Given the description of an element on the screen output the (x, y) to click on. 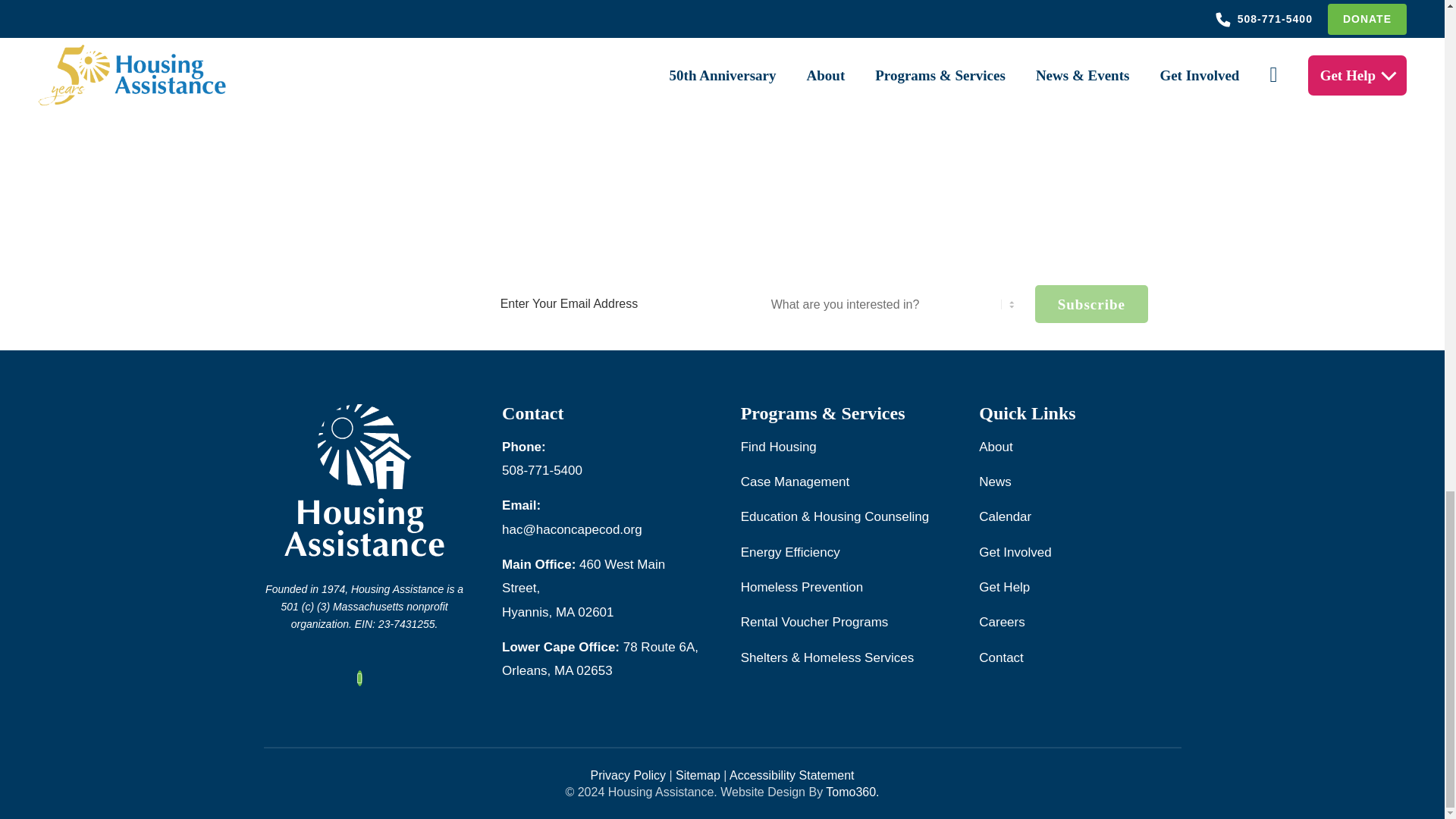
Subscribe (1091, 303)
hax-footer-logo (364, 482)
